Given the description of an element on the screen output the (x, y) to click on. 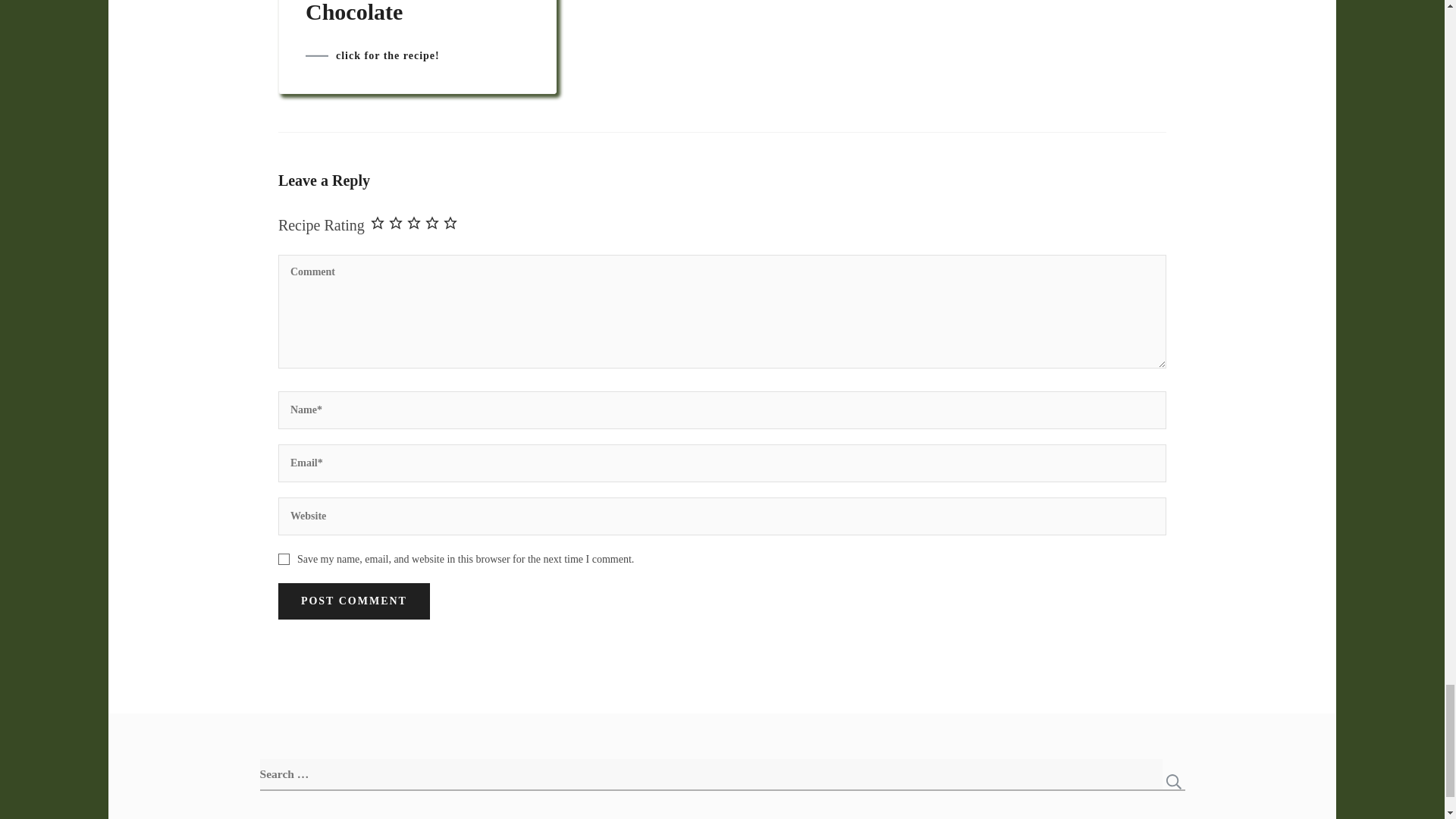
Post Comment (353, 601)
